Given the description of an element on the screen output the (x, y) to click on. 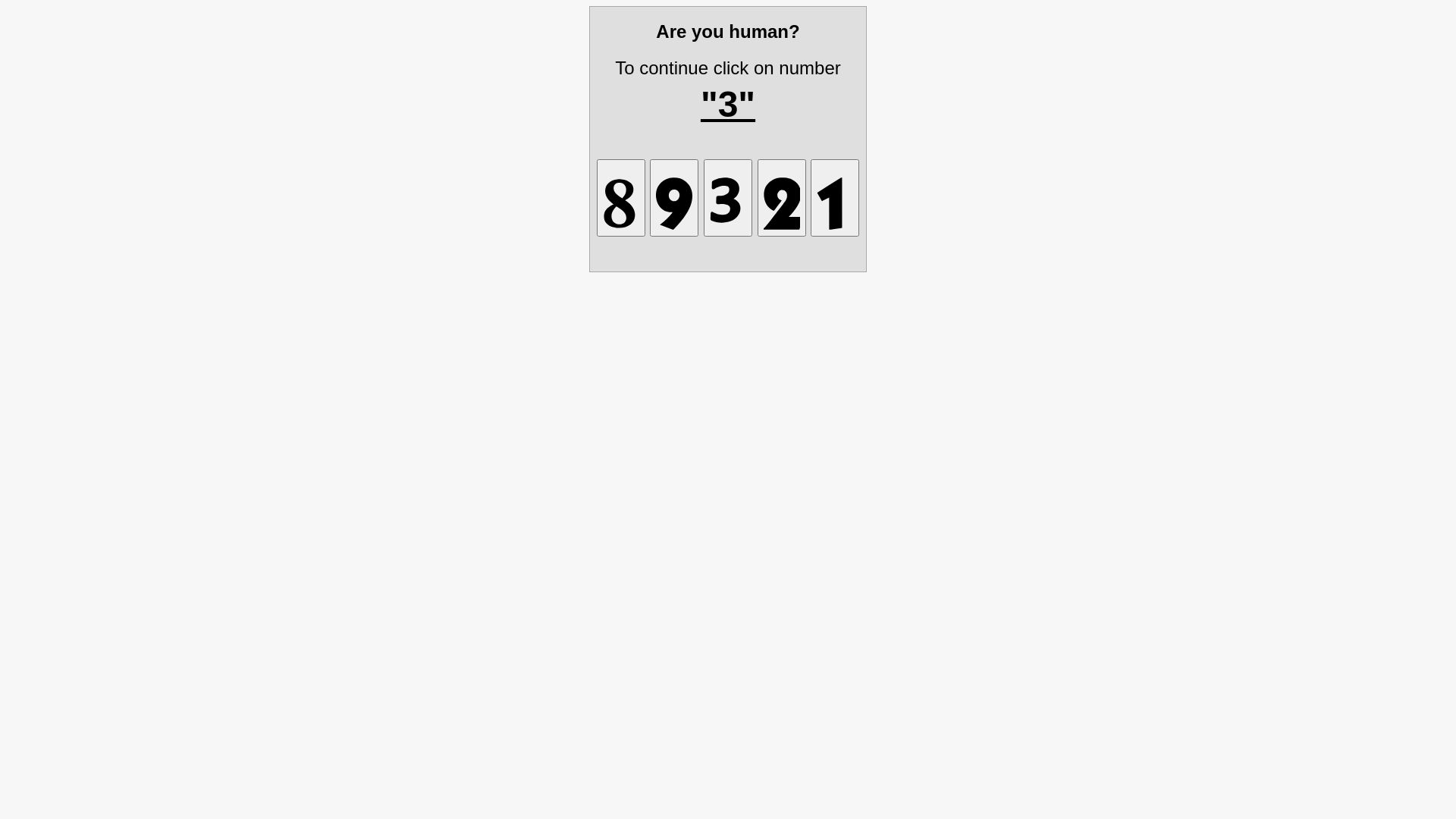
1732443172892424 Element type: text (781, 197)
1732443172527091 Element type: text (673, 197)
1732443172331121 Element type: text (727, 197)
1732443172185050 Element type: text (620, 197)
1732443172614721 Element type: text (834, 197)
